Given the description of an element on the screen output the (x, y) to click on. 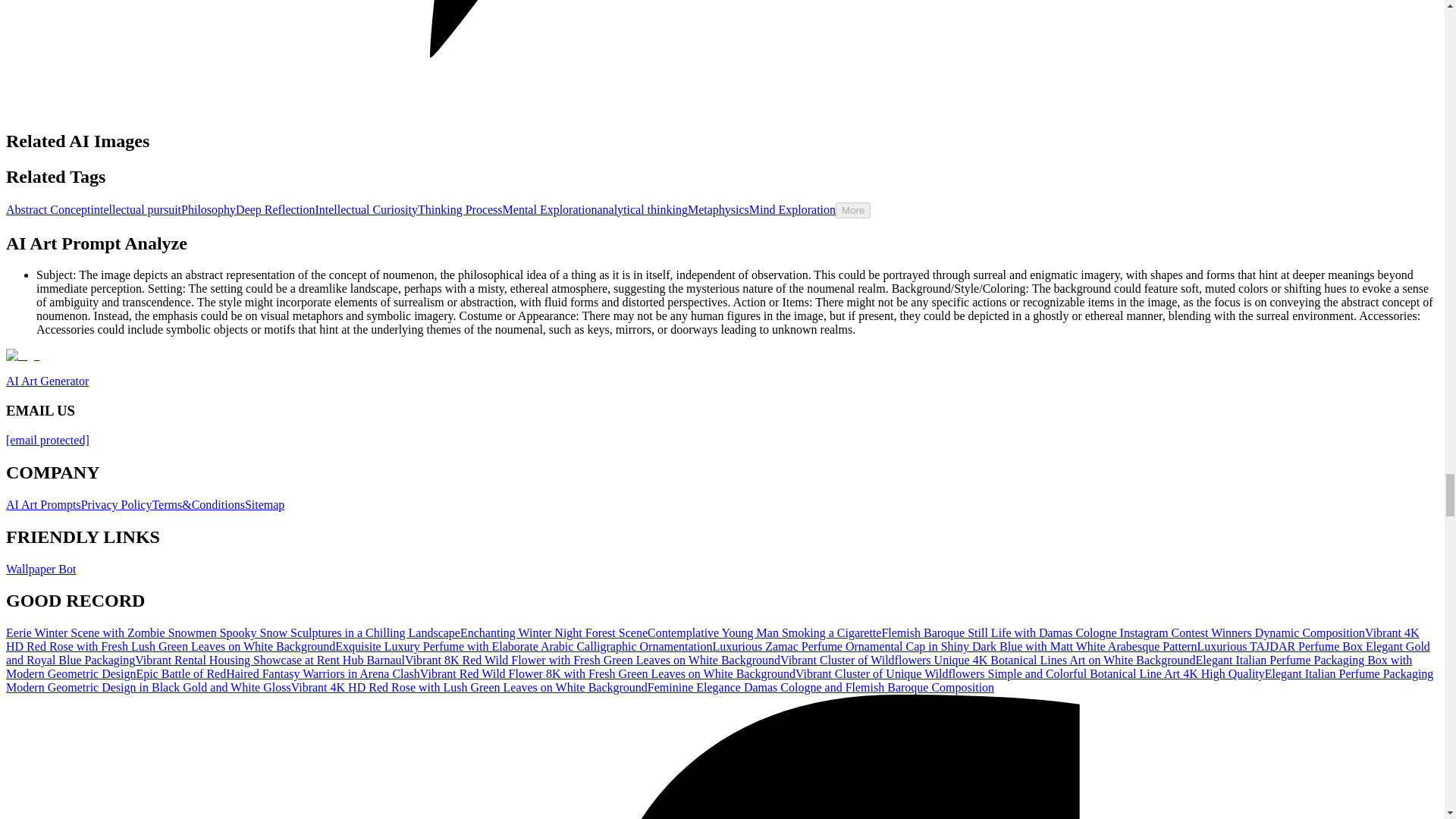
Contemplative Young Man Smoking a Cigarette (763, 632)
Enchanting Winter Night Forest Scene (553, 632)
Abstract Concept (47, 209)
Thinking Process (459, 209)
Mind Exploration (792, 209)
